Given the description of an element on the screen output the (x, y) to click on. 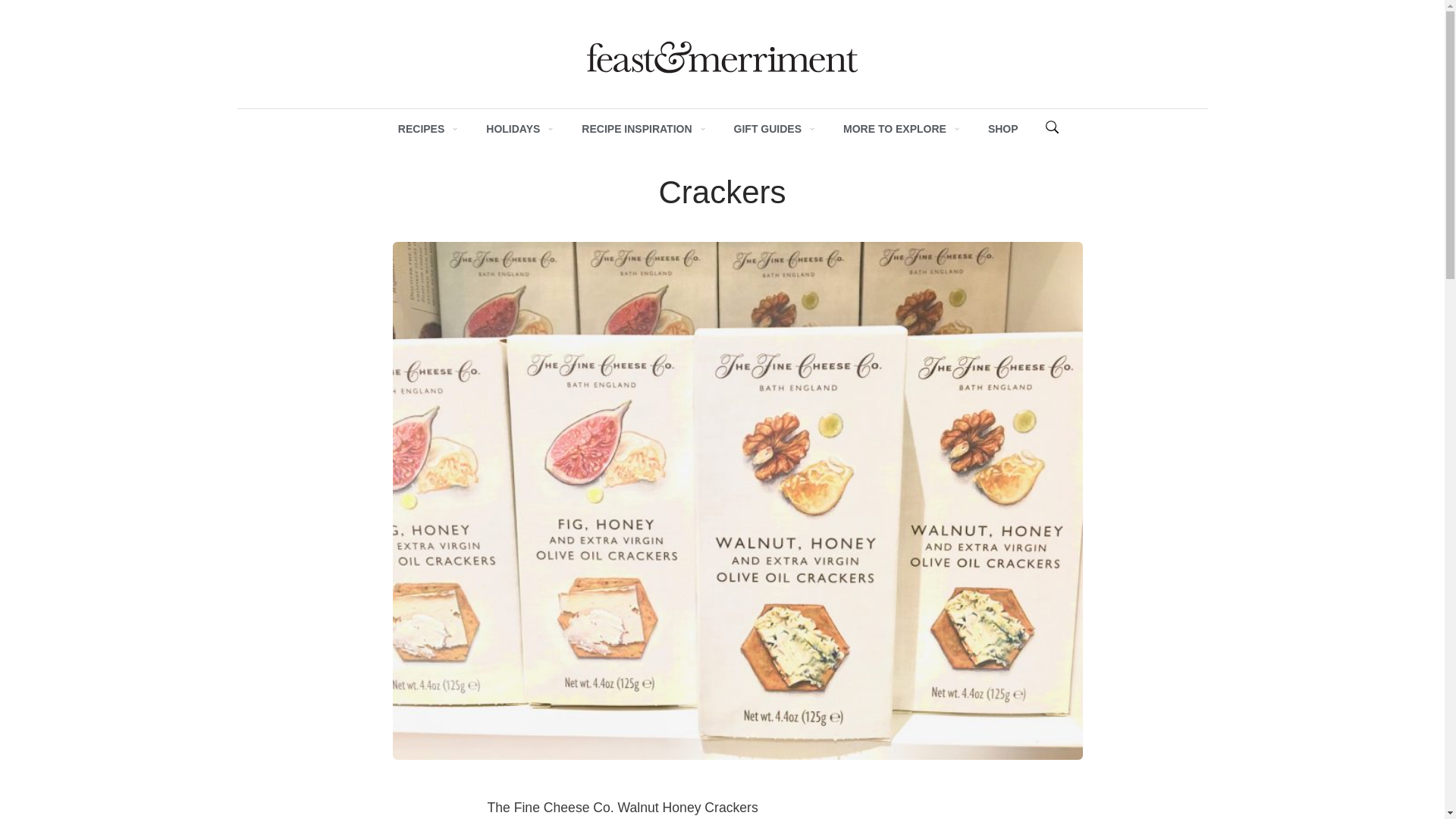
HOLIDAYS (513, 128)
RECIPE INSPIRATION (635, 128)
RECIPES (420, 128)
